Given the description of an element on the screen output the (x, y) to click on. 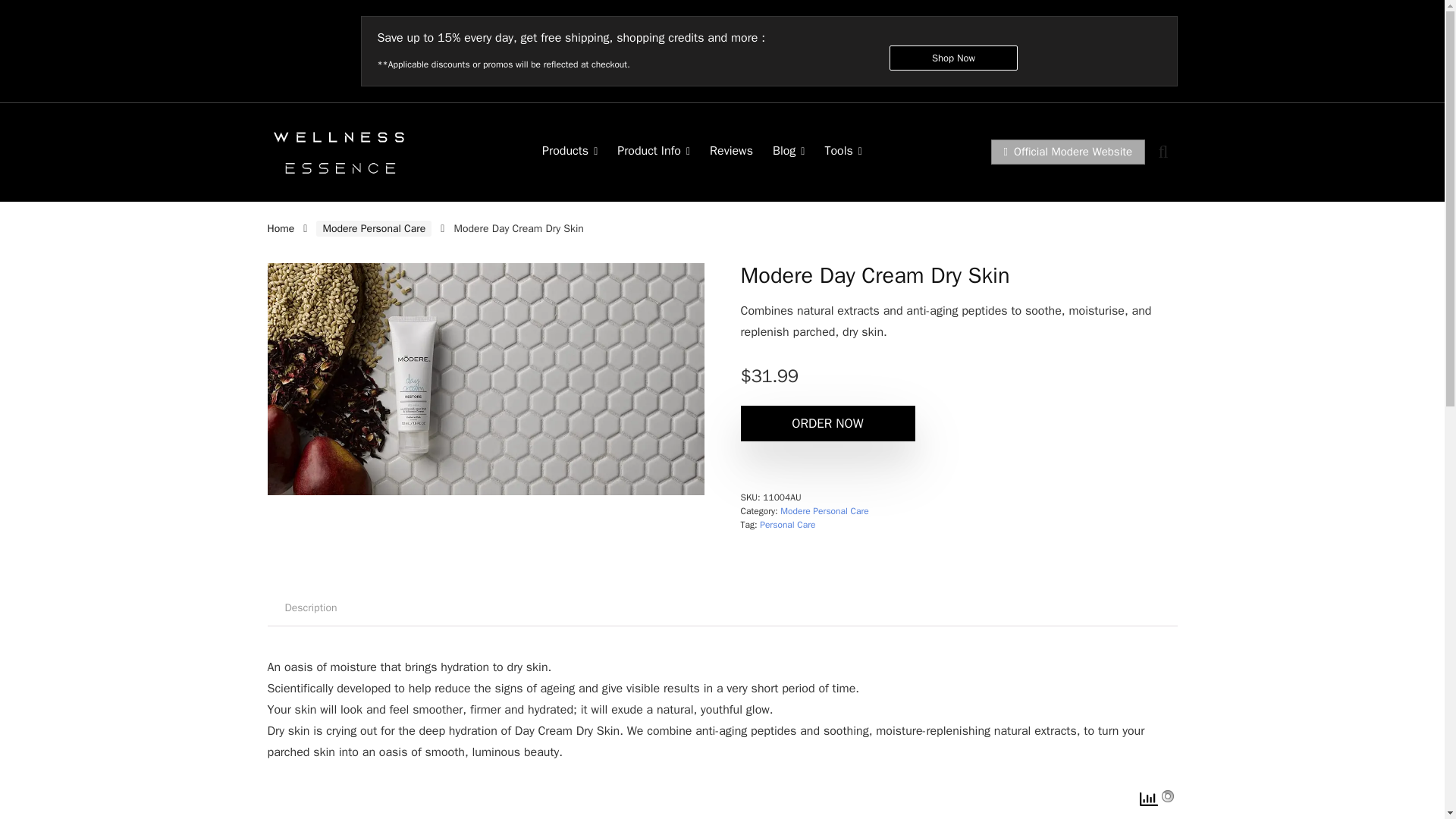
Product Info (653, 152)
Reviews (731, 152)
Official Modere Website (1068, 151)
Tools (842, 152)
Personal Care (787, 524)
Description (309, 607)
Modere Personal Care (372, 228)
Blog (787, 152)
ORDER NOW (826, 423)
Shop Now (953, 57)
Modere Personal Care (823, 510)
Products (569, 152)
Home (280, 228)
